Given the description of an element on the screen output the (x, y) to click on. 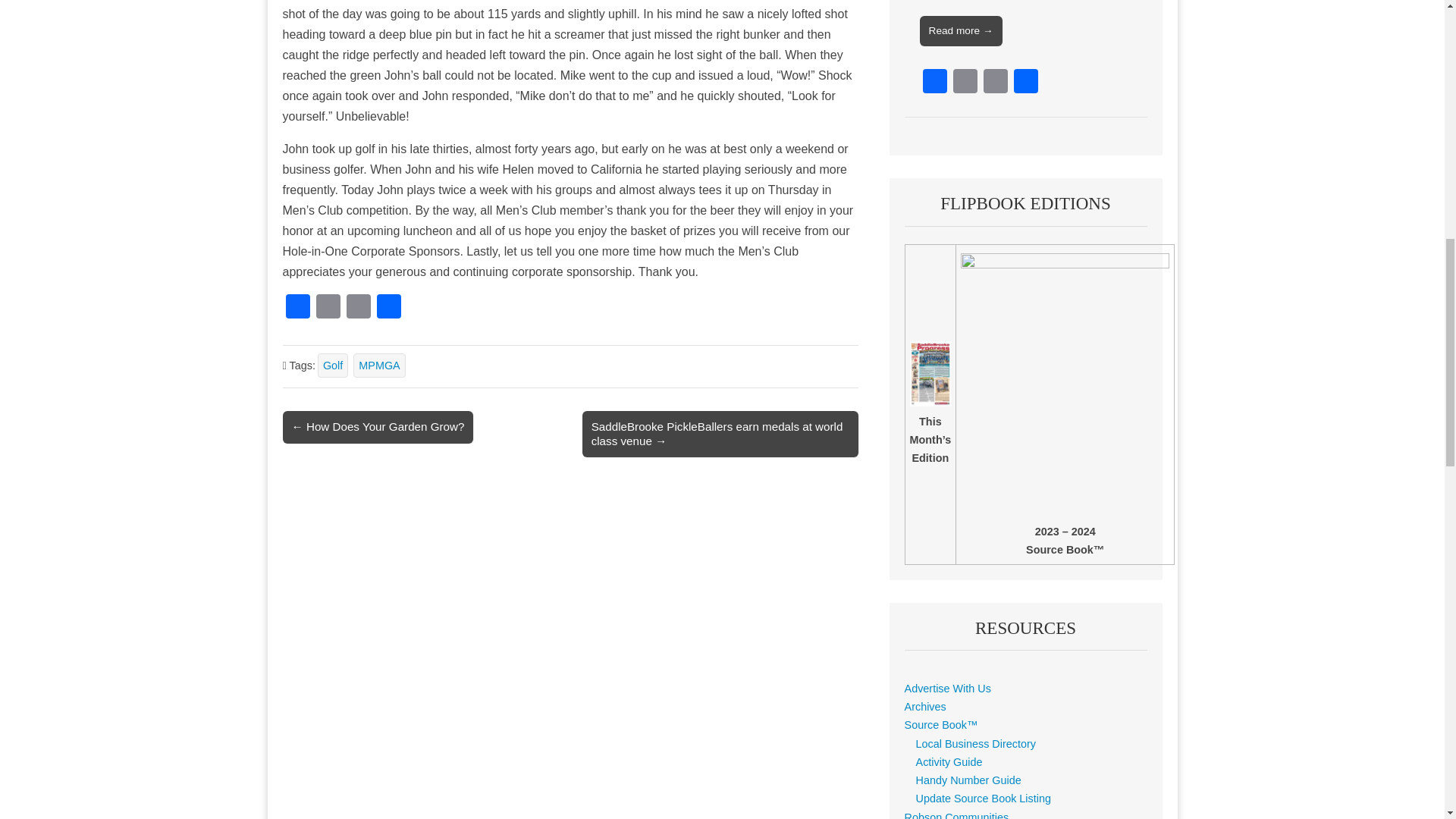
MPMGA (378, 364)
Email (964, 82)
Email (327, 308)
Email (327, 308)
Facebook (297, 308)
Share (387, 308)
Print (357, 308)
Golf (332, 364)
Facebook (297, 308)
Print (357, 308)
